Given the description of an element on the screen output the (x, y) to click on. 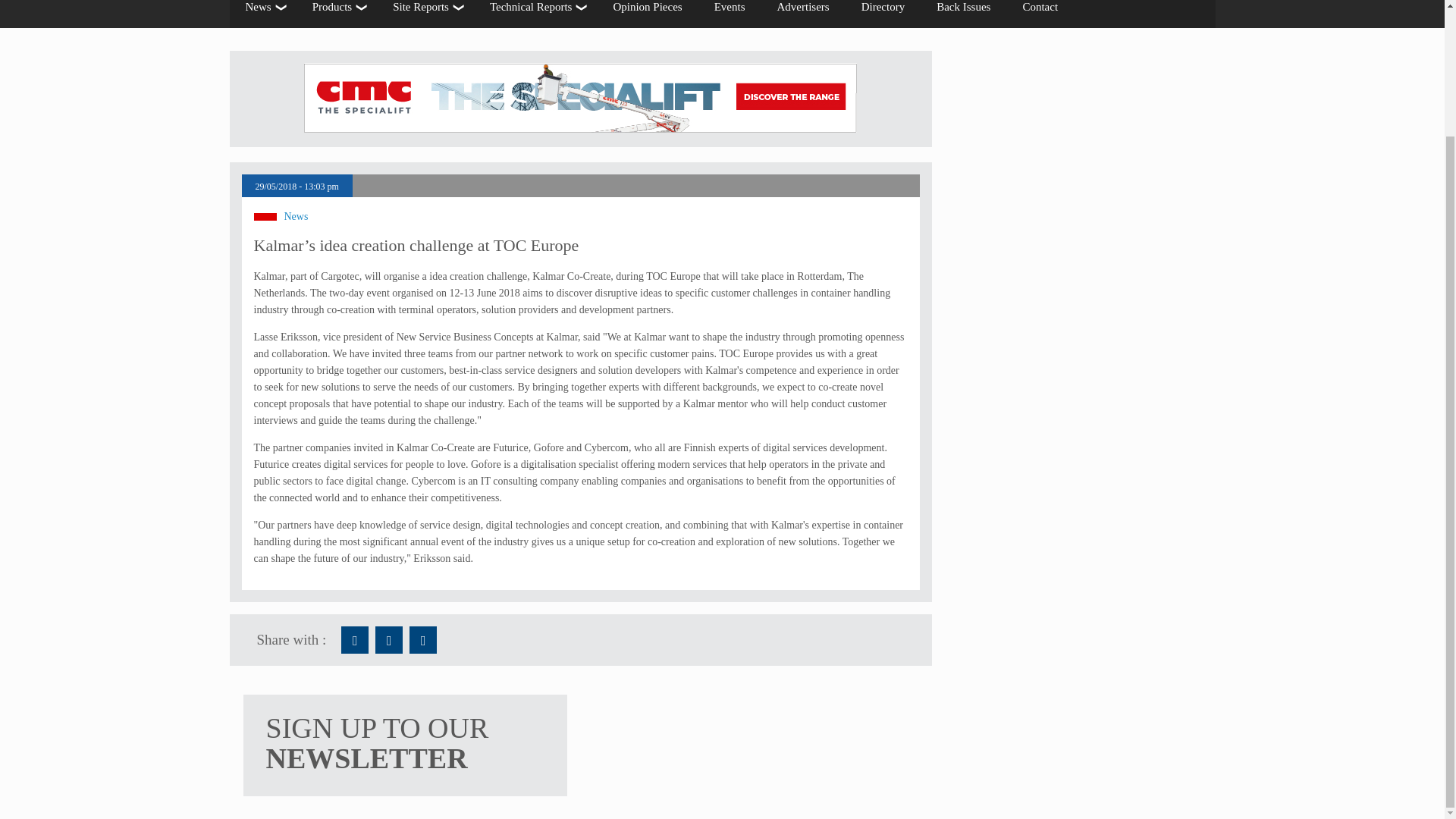
Site Reports (425, 13)
Products (337, 13)
News (261, 13)
Lift and Hoist Australia  LinkedIn (422, 639)
Lift and Hoist Australia  Facebook (354, 639)
